Given the description of an element on the screen output the (x, y) to click on. 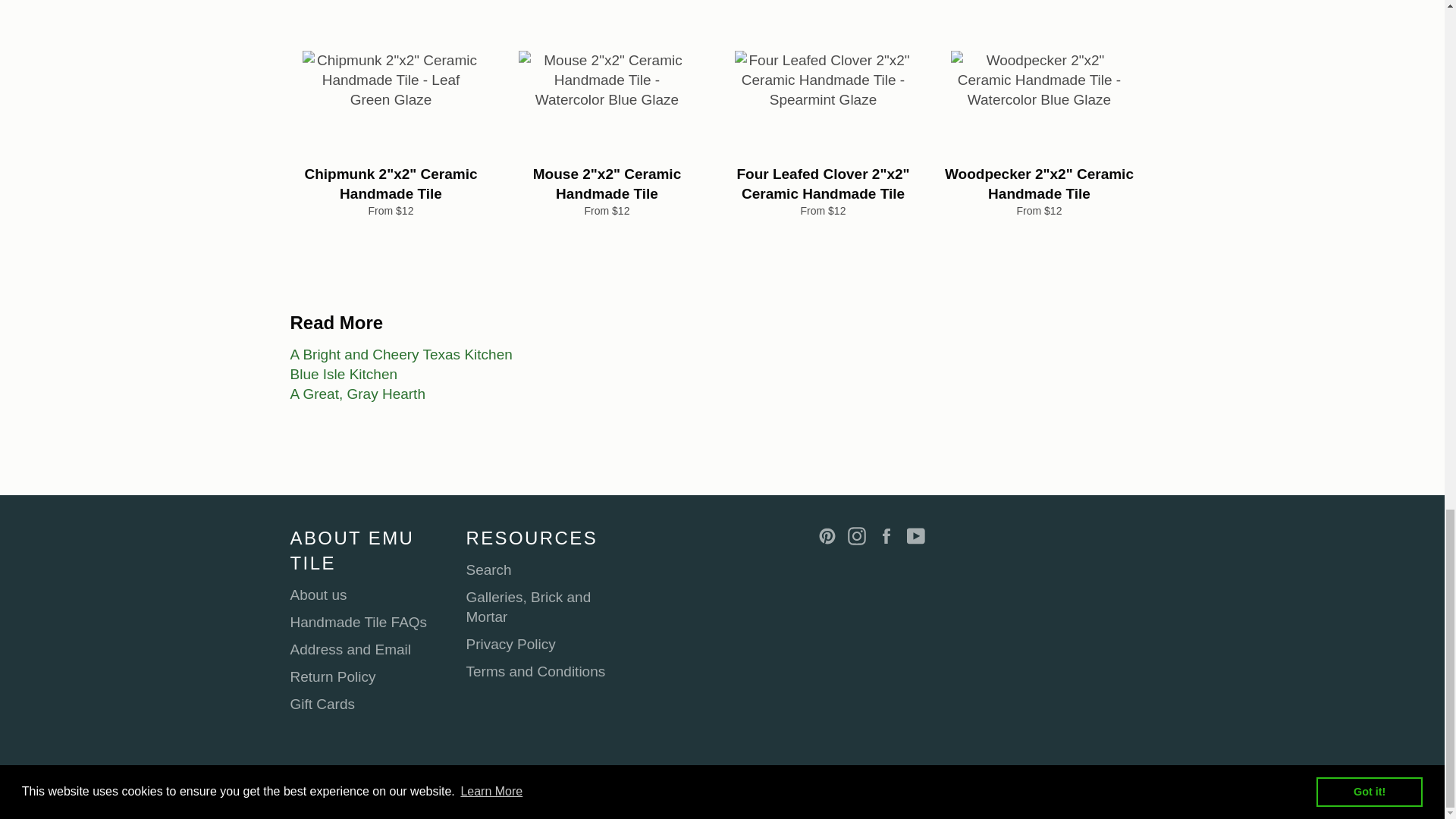
Ceramic Handmade Tiles by Emu Tile LLC on Instagram (860, 534)
Ceramic Handmade Tiles by Emu Tile LLC on Facebook (889, 534)
Ceramic Handmade Tiles by Emu Tile LLC on Pinterest (829, 534)
Ceramic Handmade Tiles by Emu Tile LLC on YouTube (920, 534)
